Given the description of an element on the screen output the (x, y) to click on. 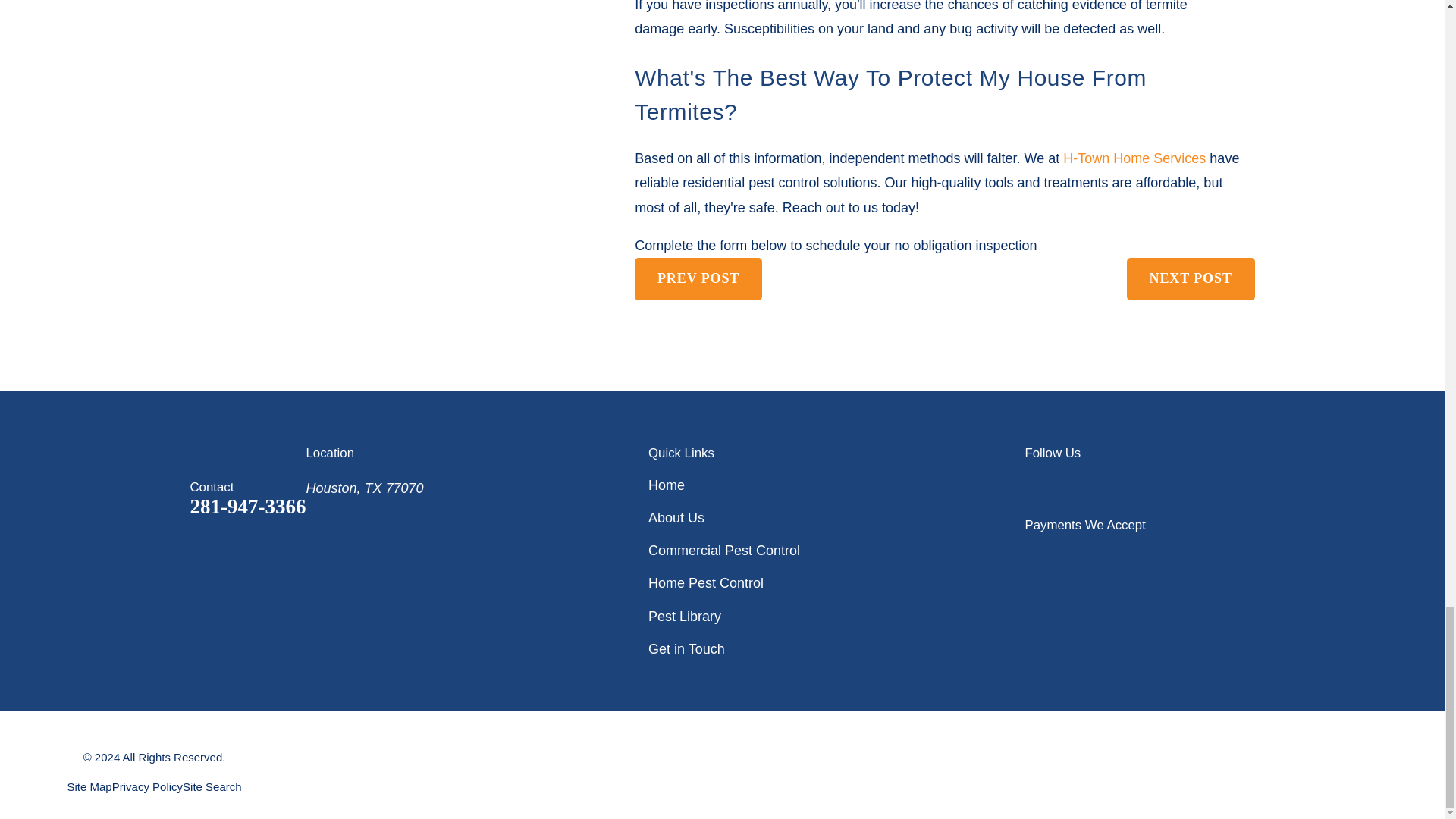
Google Business Profile (1034, 485)
Cash (1203, 554)
MasterCard (1117, 554)
Yelp (1083, 485)
Visa (1031, 554)
AMEX (1074, 554)
Discover (1160, 554)
